Given the description of an element on the screen output the (x, y) to click on. 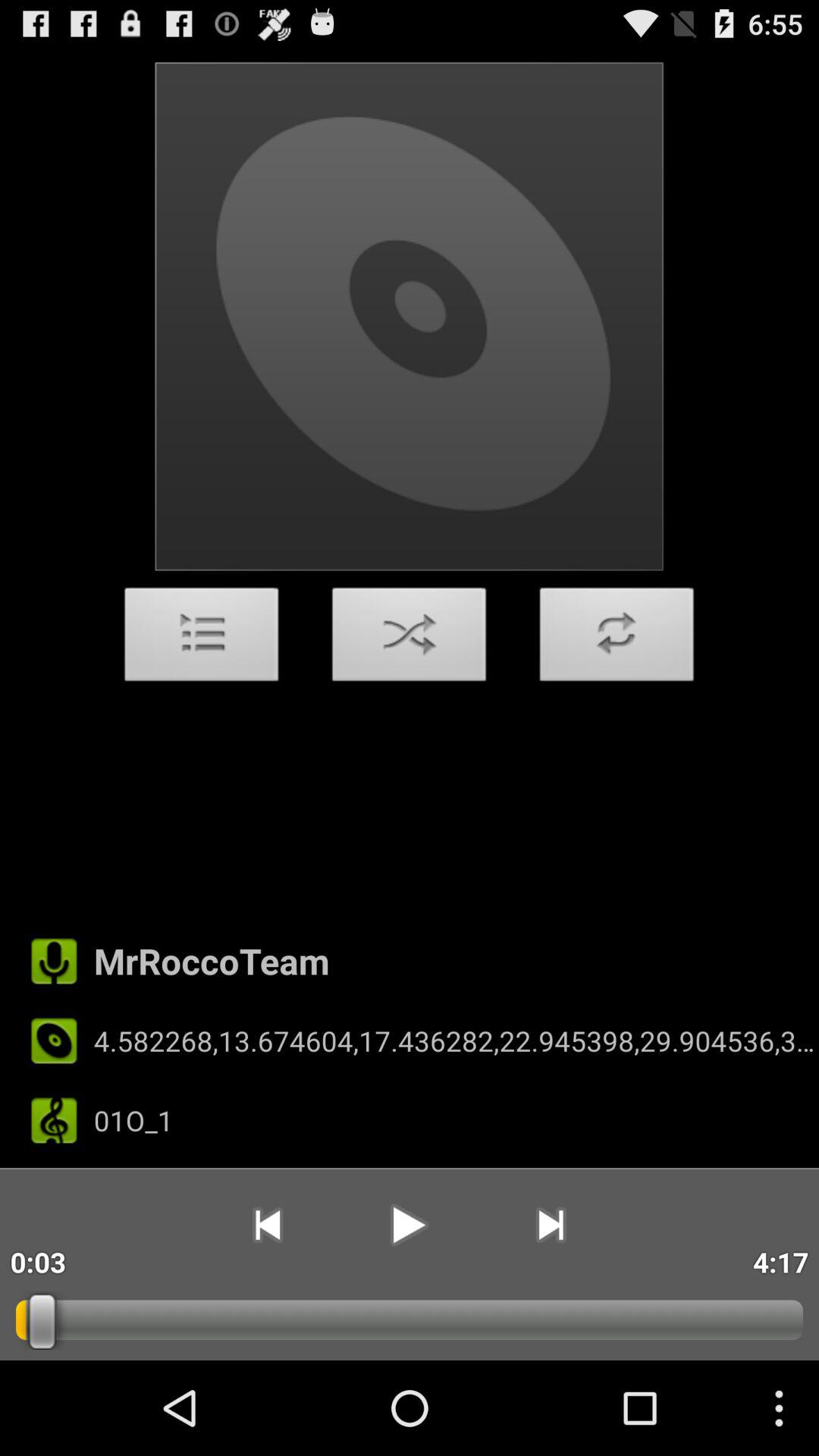
select icon next to 4:17 icon (550, 1224)
